Given the description of an element on the screen output the (x, y) to click on. 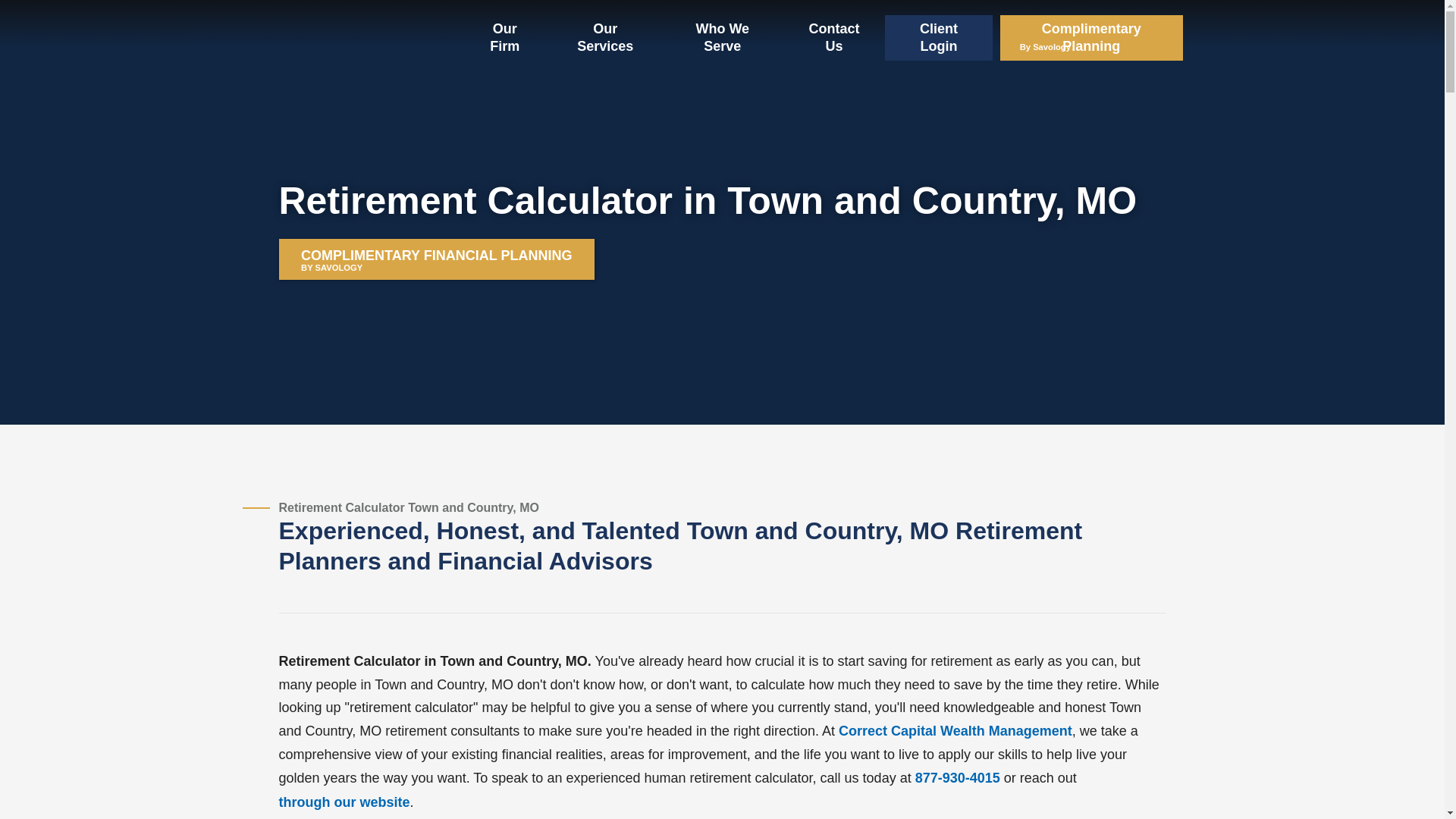
Contact Us (1091, 37)
Our Services (834, 38)
Correct Capital Wealth Management (604, 38)
Client Login (954, 731)
Our Firm (437, 259)
877-930-4015 (938, 37)
through our website (504, 38)
Who We Serve (957, 778)
